Given the description of an element on the screen output the (x, y) to click on. 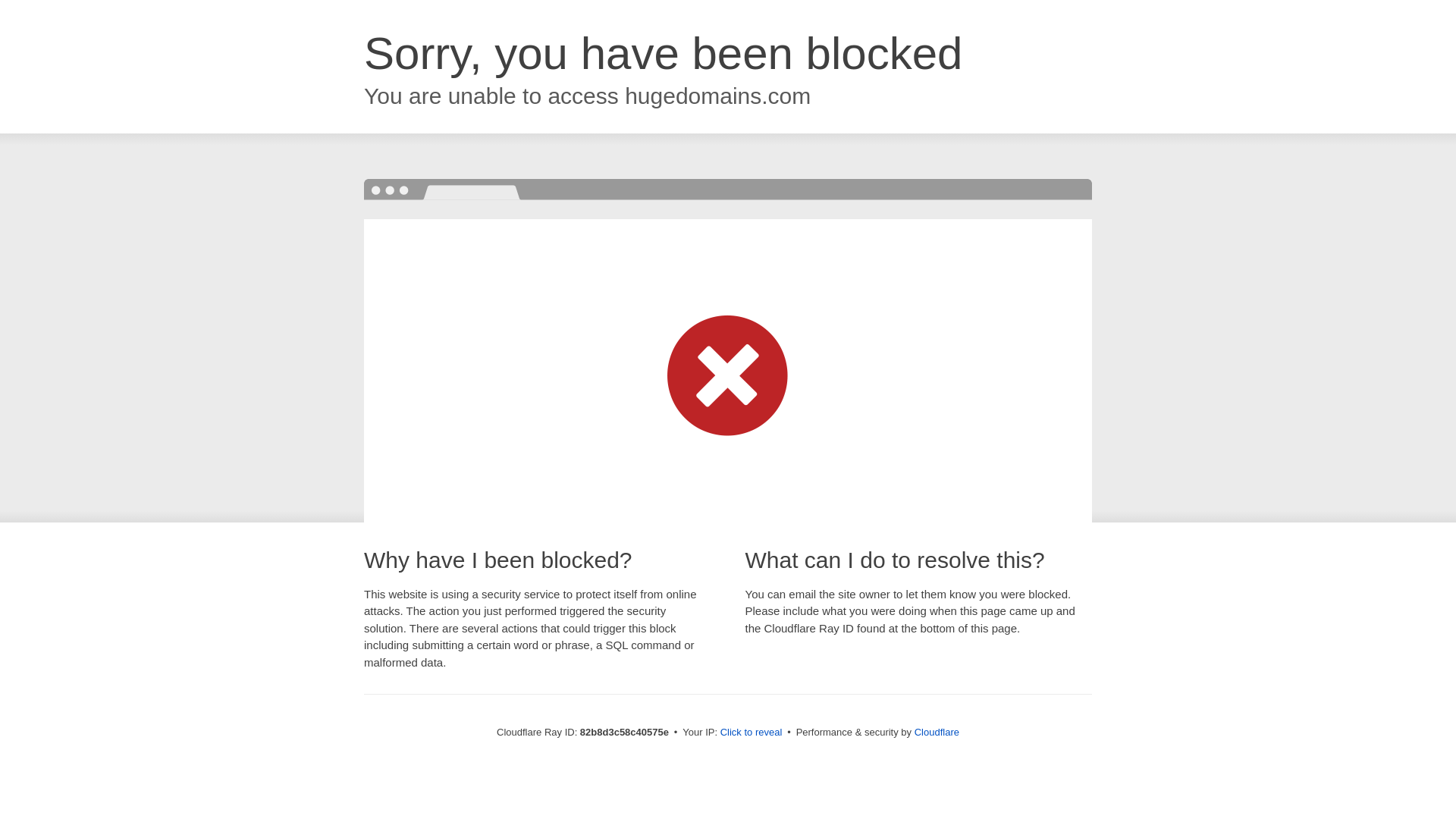
Click to reveal Element type: text (751, 732)
Cloudflare Element type: text (936, 731)
